Given the description of an element on the screen output the (x, y) to click on. 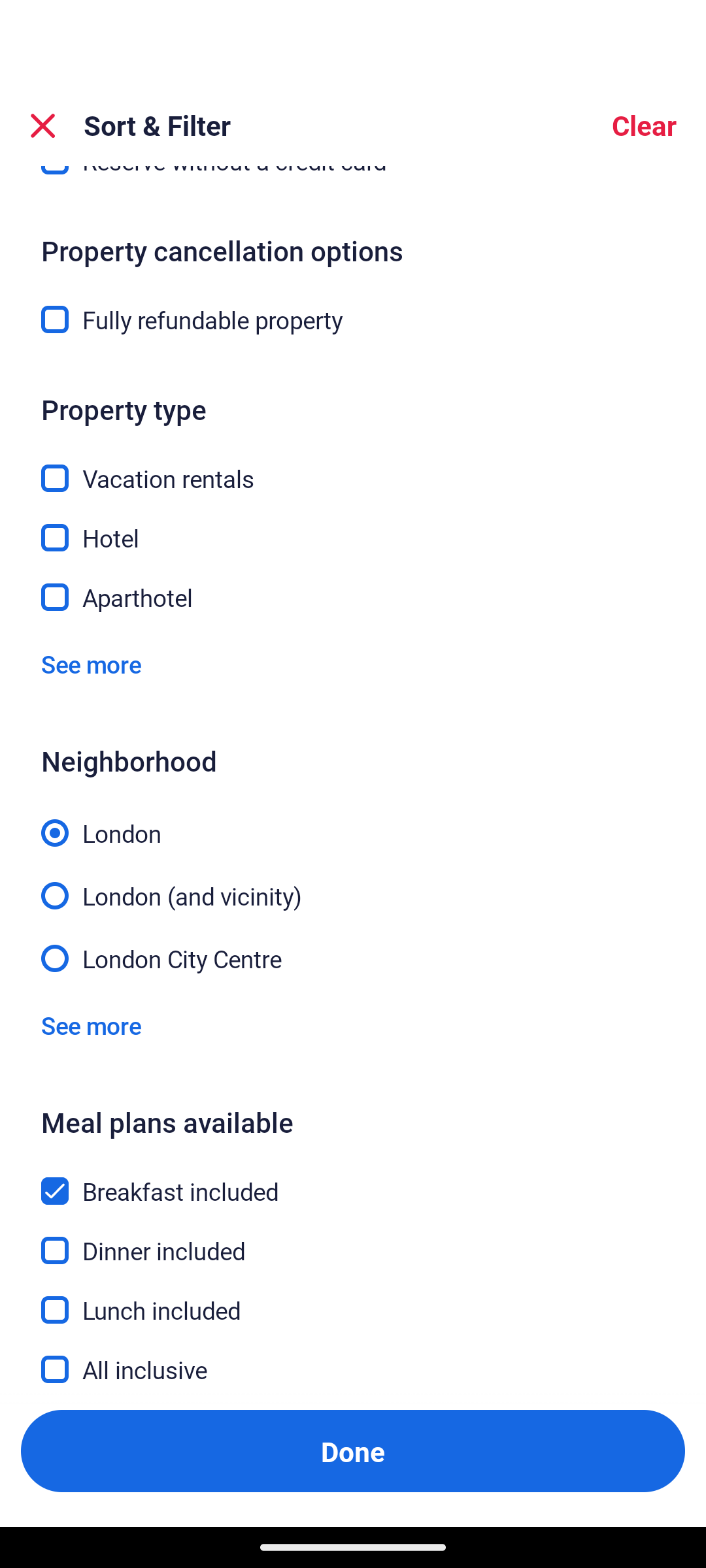
Clear (643, 125)
Close Sort and Filter (43, 125)
Vacation rentals, Vacation rentals (352, 467)
Hotel, Hotel (352, 526)
Aparthotel, Aparthotel (352, 597)
See more See more property types Link (90, 664)
London (and vicinity) (352, 883)
London City Centre (352, 956)
See more See more neighborhoods Link (90, 1025)
Breakfast included, Breakfast included (352, 1180)
Dinner included, Dinner included (352, 1240)
Lunch included, Lunch included (352, 1299)
All inclusive, All inclusive (352, 1369)
Apply and close Sort and Filter Done (352, 1450)
